Given the description of an element on the screen output the (x, y) to click on. 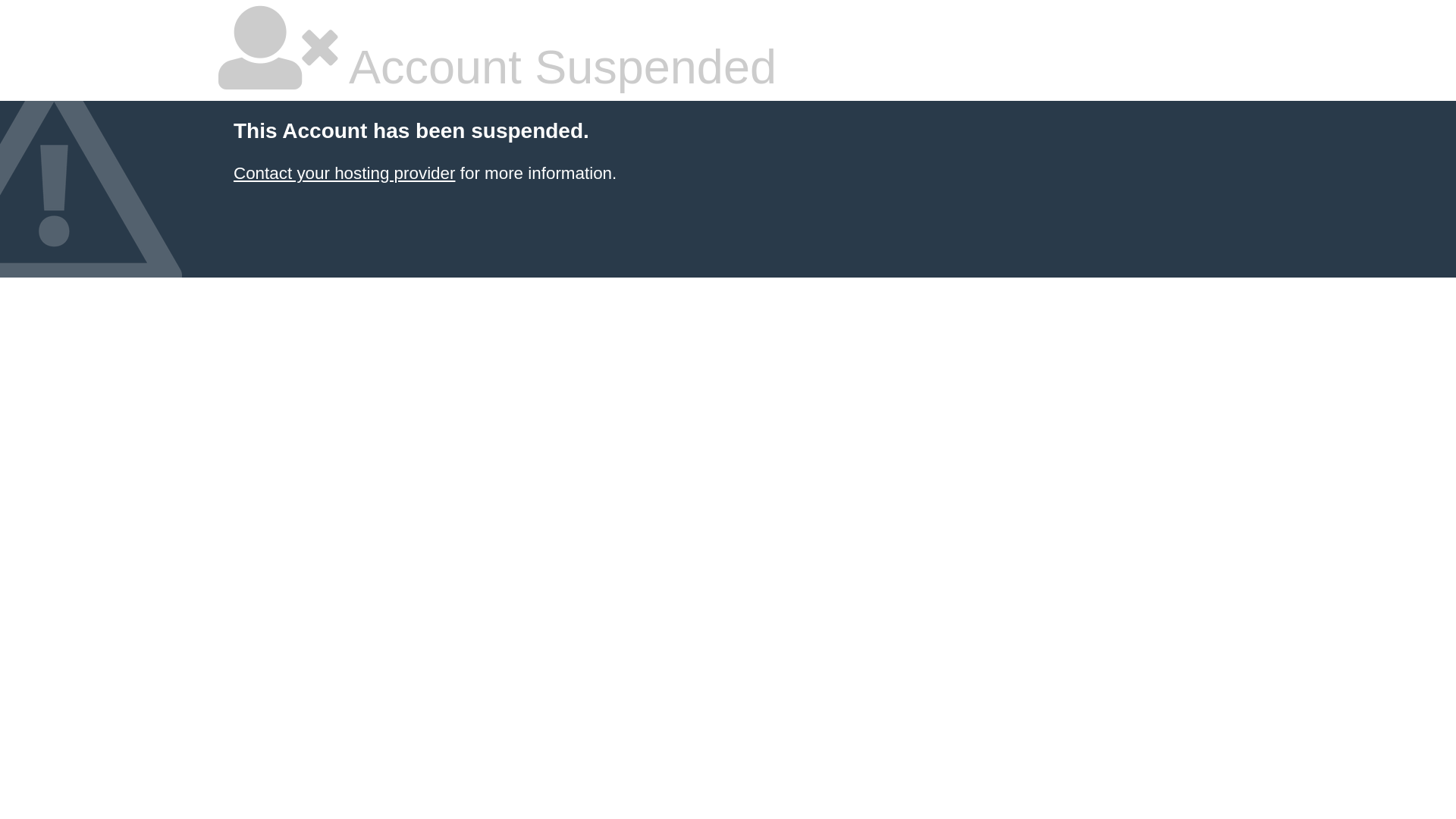
Contact your hosting provider Element type: text (344, 172)
